Given the description of an element on the screen output the (x, y) to click on. 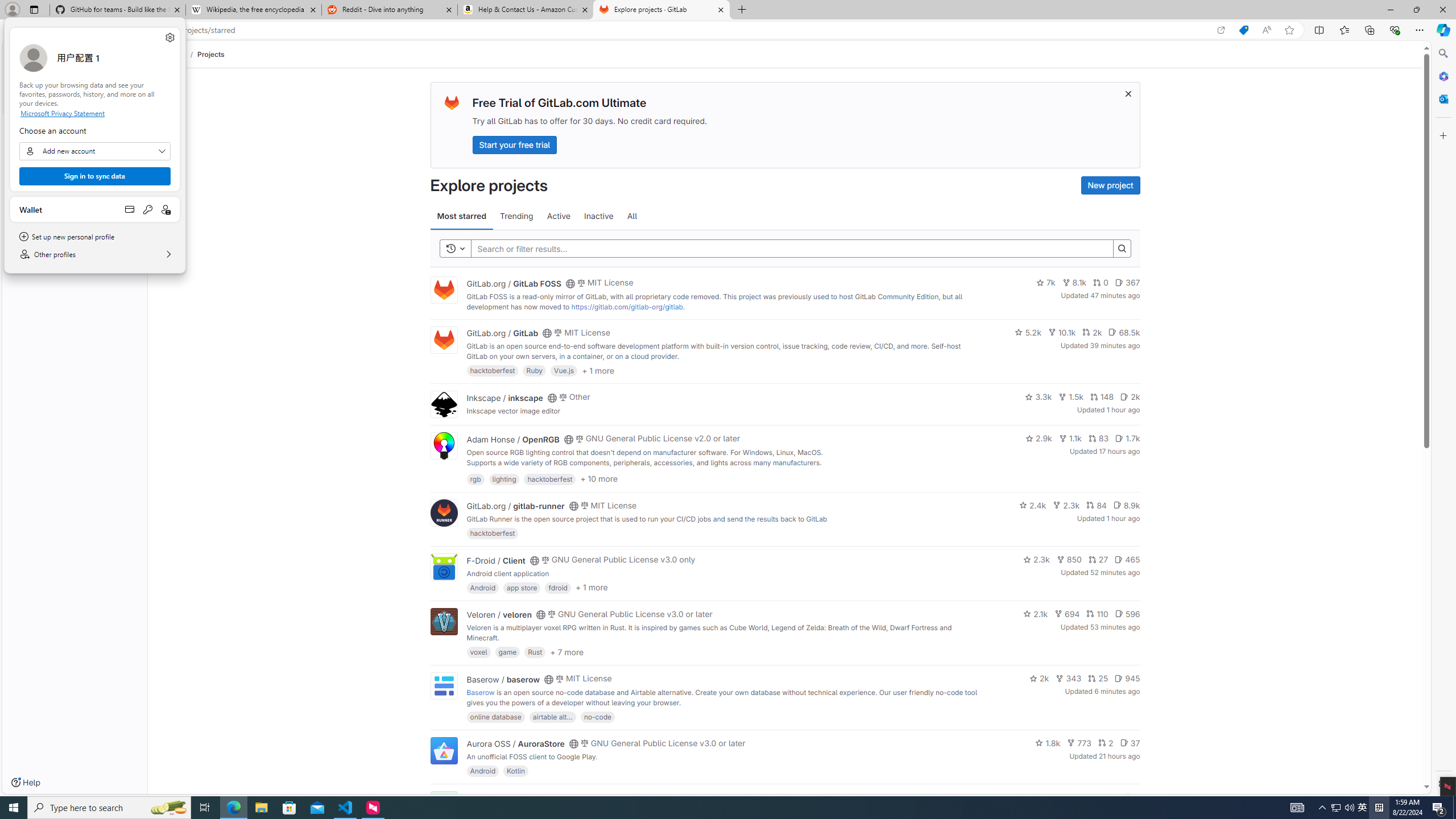
84 (1096, 504)
New project (1110, 185)
Microsoft Privacy Statement (94, 112)
Edouard Klein / falsisign (512, 797)
8.9k (1126, 504)
465 (1127, 559)
Adam Honse / OpenRGB (512, 438)
343 (1068, 678)
+ 7 more (566, 651)
